Given the description of an element on the screen output the (x, y) to click on. 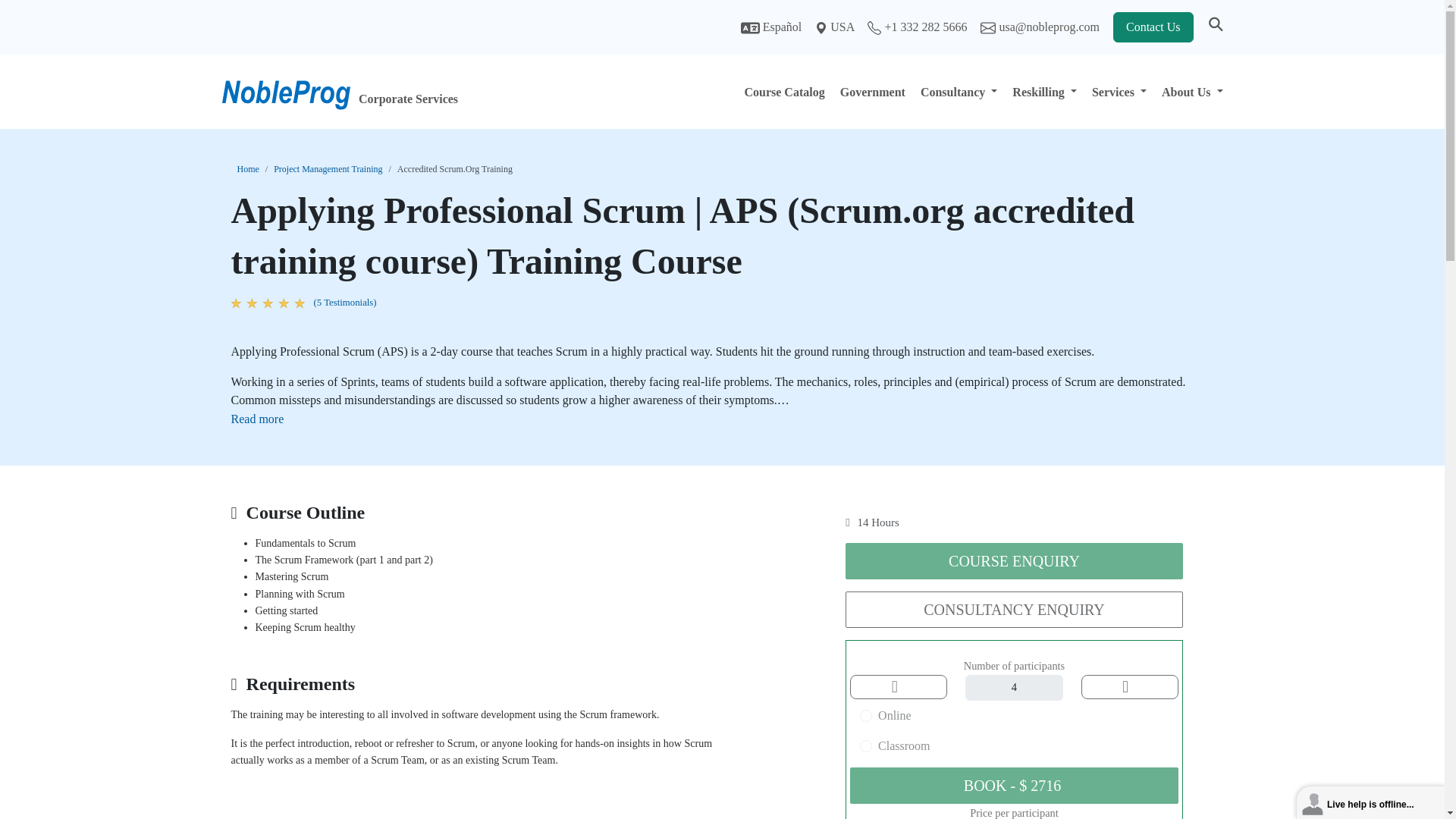
online (866, 715)
Services (1119, 91)
Phone numer for contact us (918, 26)
Course Catalog (784, 91)
USA (836, 26)
search (1215, 26)
Consultancy (958, 91)
classroom (866, 746)
4 (1013, 687)
Contact Us (1153, 27)
